Given the description of an element on the screen output the (x, y) to click on. 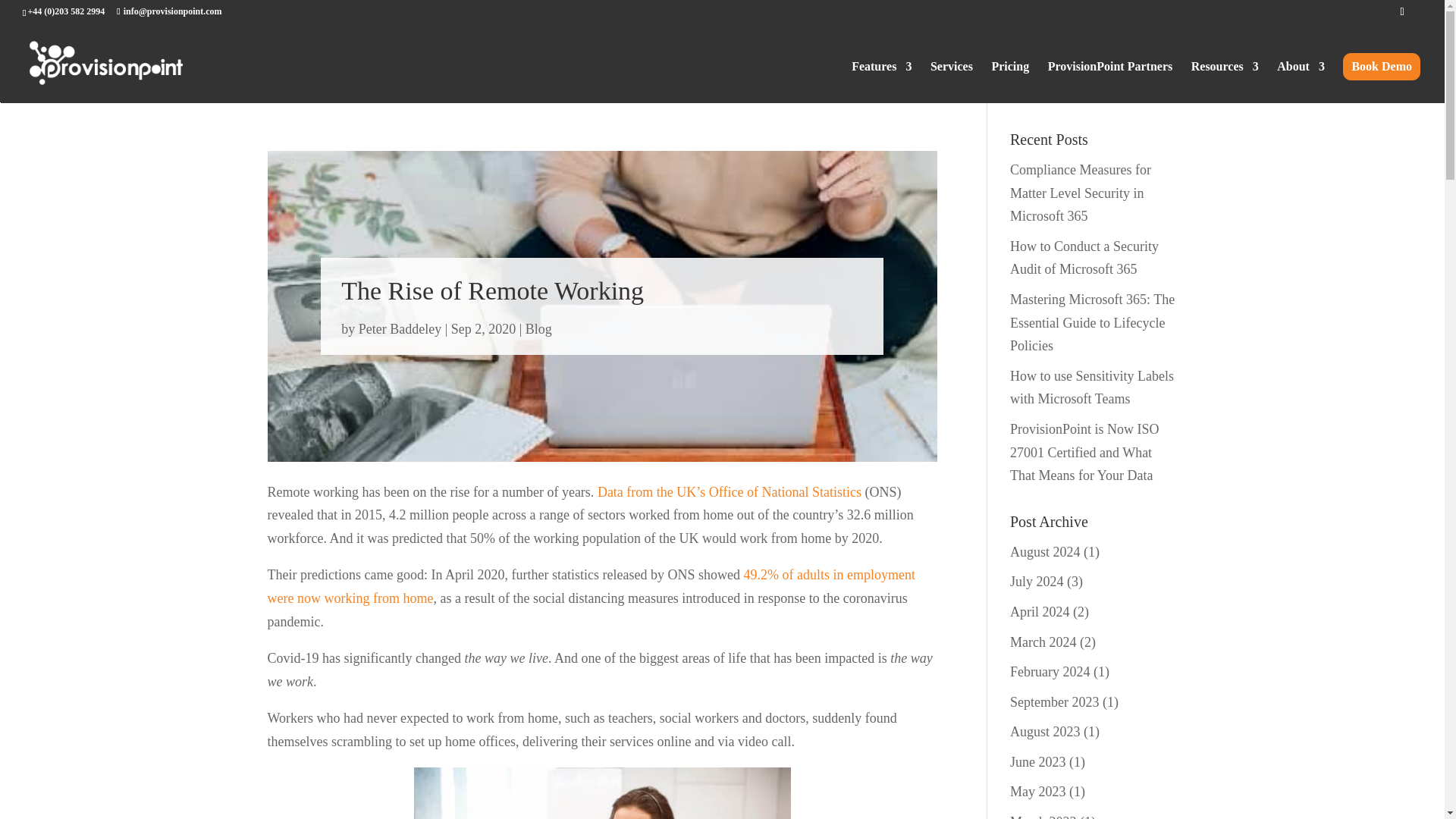
Services (951, 81)
ProvisionPoint Partners (1110, 81)
Pricing (1010, 81)
Features (881, 81)
About (1300, 81)
Resources (1225, 81)
Book Demo (1381, 66)
Posts by Peter Baddeley (399, 328)
